Given the description of an element on the screen output the (x, y) to click on. 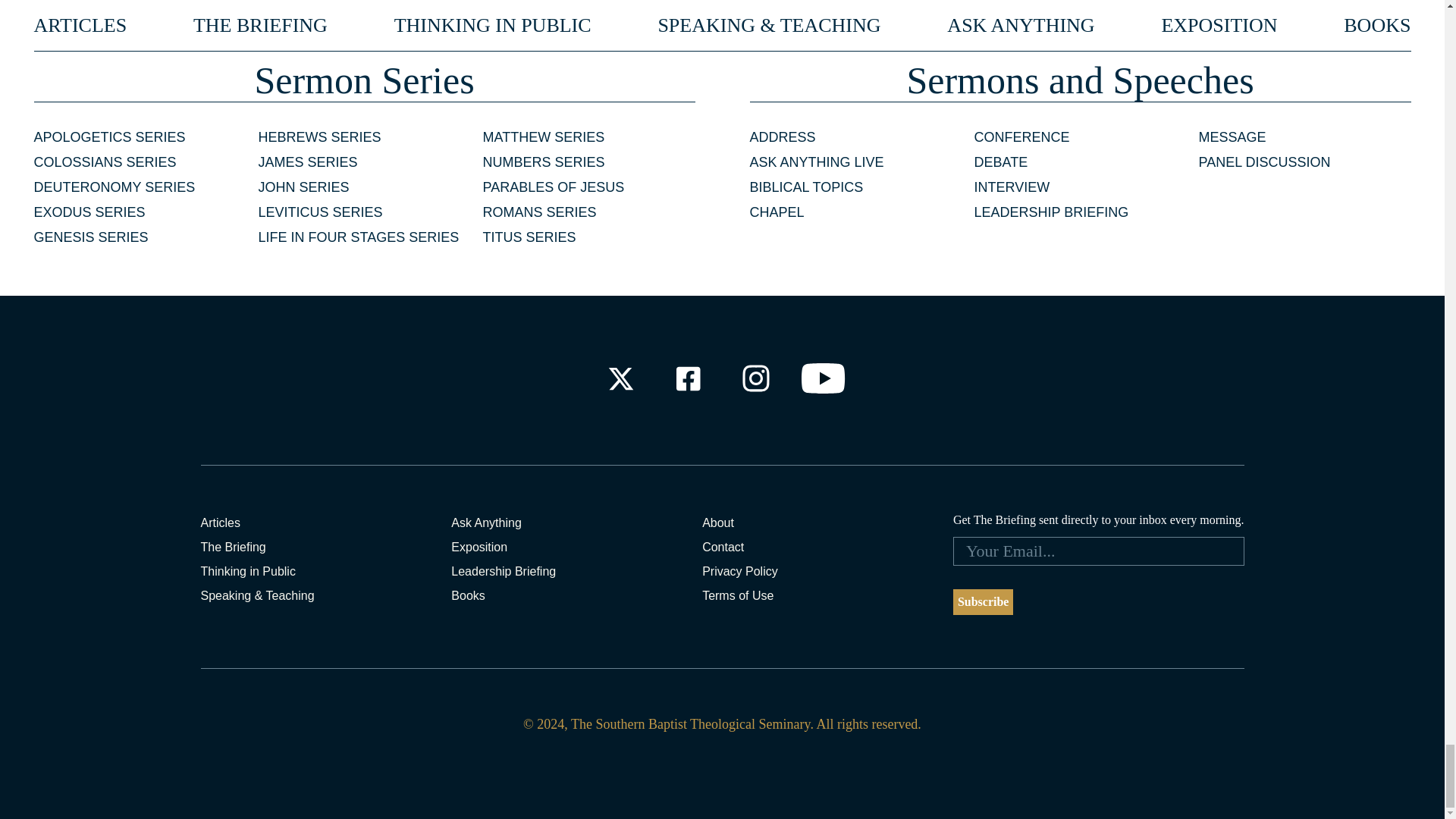
Check out our X Profile (620, 378)
Subscribe (983, 601)
Check out our Facebook Profile (687, 378)
Check out our Youtube Channel (822, 378)
Check out our Instagram Profile (755, 378)
